Given the description of an element on the screen output the (x, y) to click on. 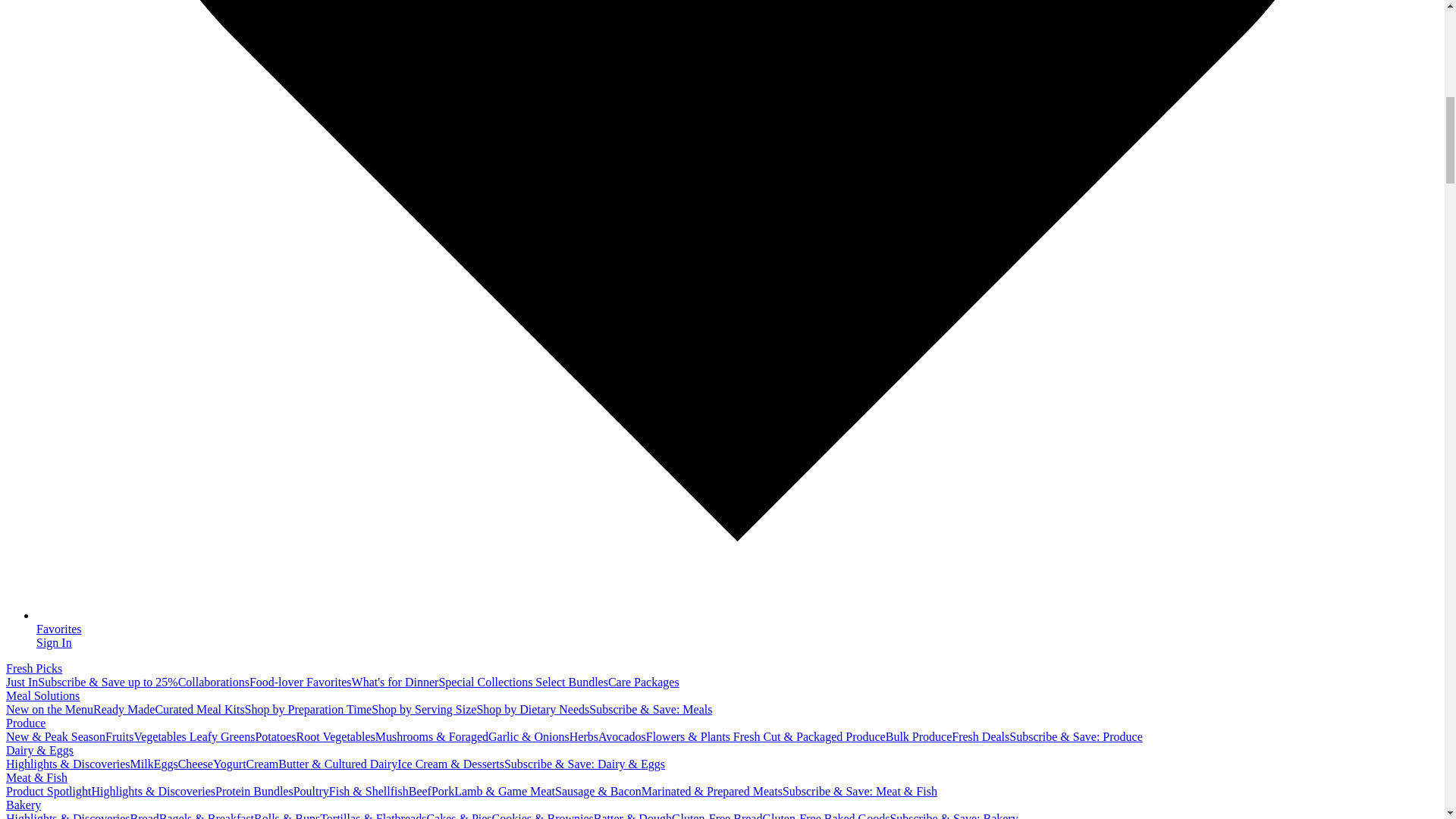
New on the Menu (49, 708)
Vegetables (159, 736)
Ready Made (123, 708)
Shop by Preparation Time (308, 708)
Curated Meal Kits (199, 708)
Root Vegetables (336, 736)
Care Packages (643, 681)
Shop by Dietary Needs (532, 708)
Leafy Greens (221, 736)
Sign In (53, 642)
Fruits (118, 736)
What's for Dinner (395, 681)
Food-lover Favorites (300, 681)
Herbs (583, 736)
Select Bundles (571, 681)
